Given the description of an element on the screen output the (x, y) to click on. 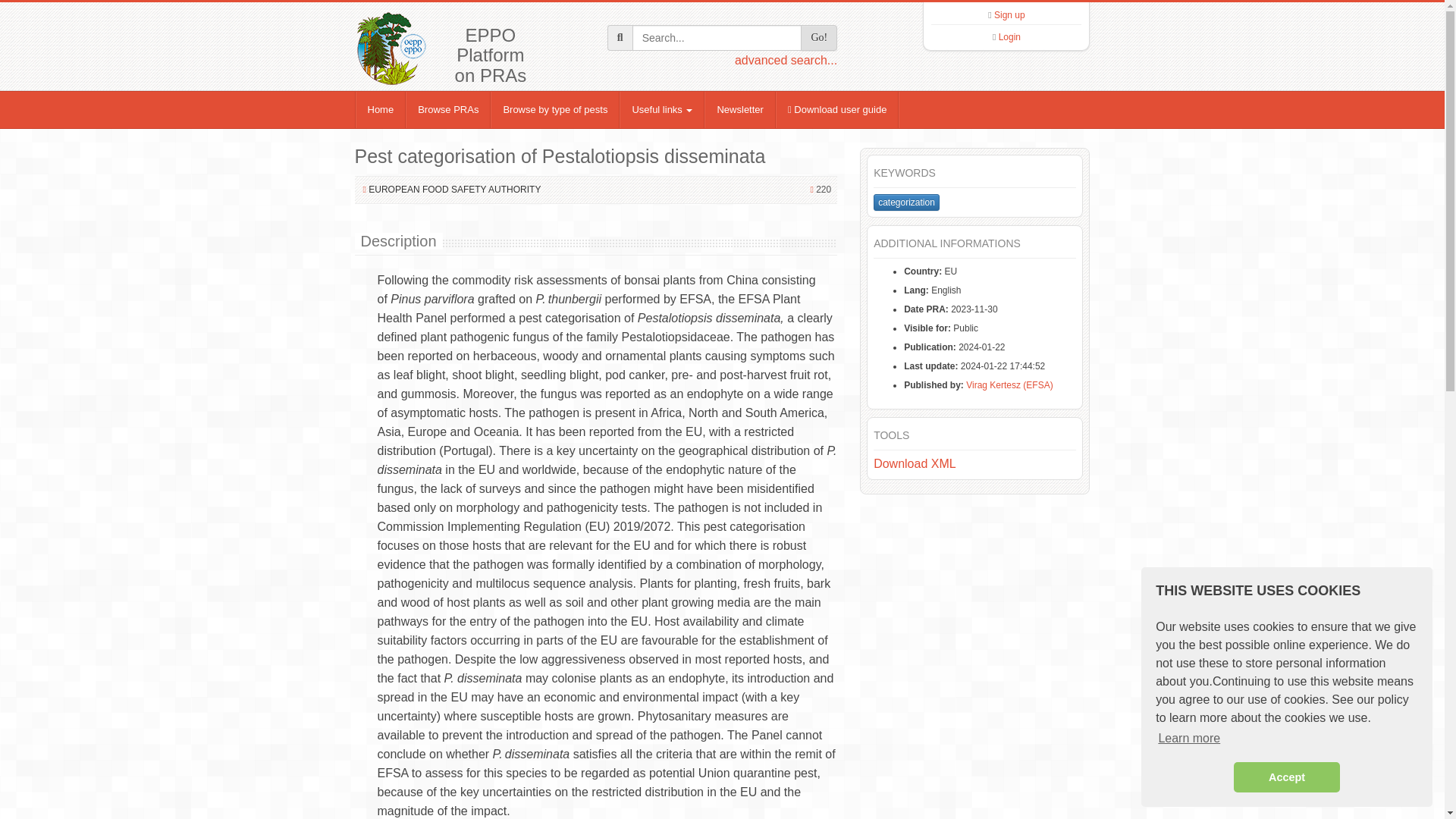
advanced search... (786, 60)
Learn more (1189, 738)
Browse PRAs (448, 109)
Browse by type of pests (555, 109)
Accept (1286, 777)
Go! (818, 37)
Login (1009, 36)
categorization (906, 202)
Home (380, 109)
Sign up (1009, 14)
EUROPEAN FOOD SAFETY AUTHORITY (454, 189)
Download XML (914, 463)
Useful links (662, 109)
Newsletter (739, 109)
Download user guide (837, 109)
